Given the description of an element on the screen output the (x, y) to click on. 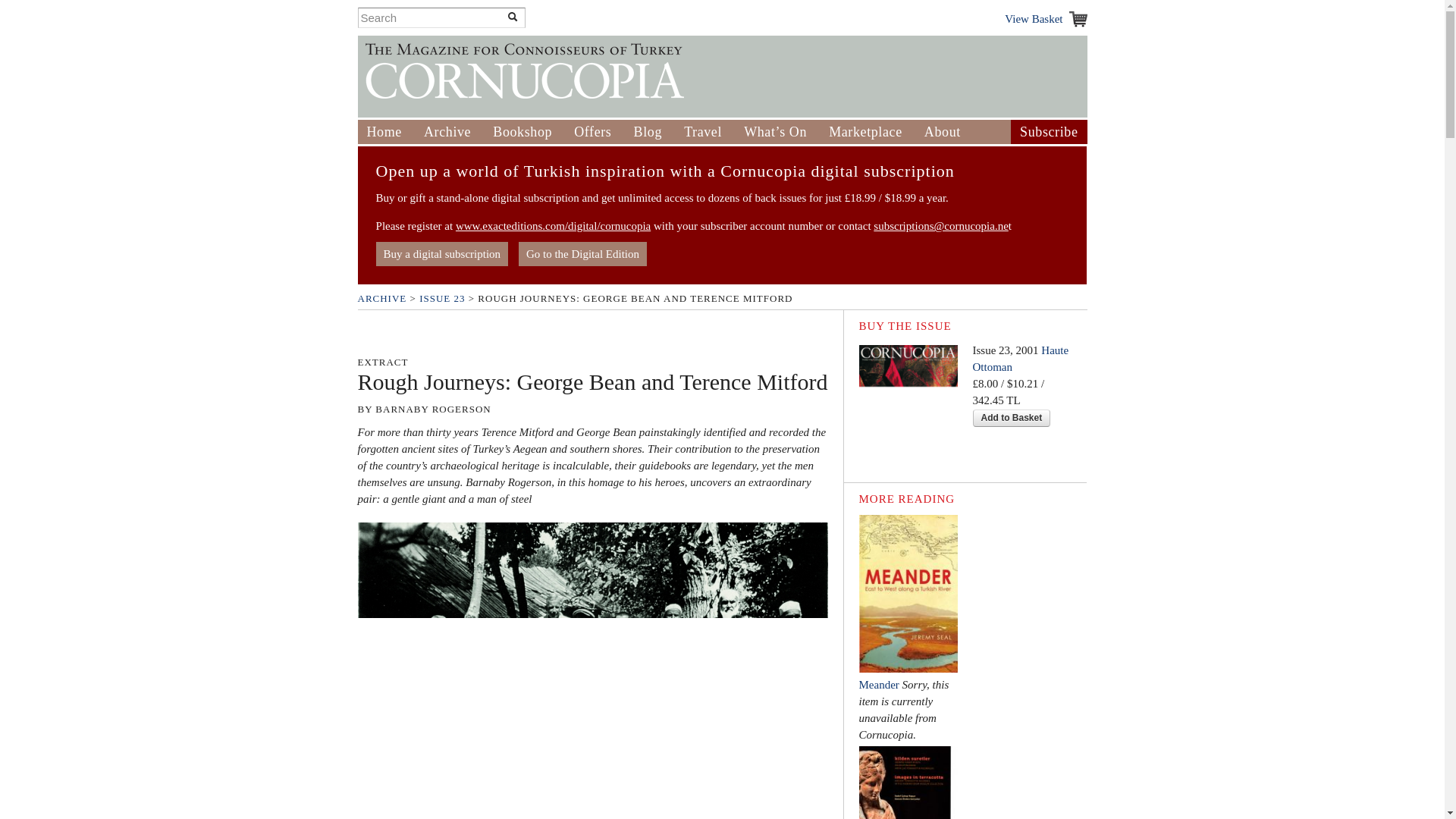
Travel (703, 131)
Buy a digital subscription (441, 253)
ISSUE 23 (441, 297)
Twitter Tweet Button (381, 333)
Home (383, 131)
Offers (592, 131)
Archive (446, 131)
Marketplace (865, 131)
Subscribe (1048, 131)
Go to the Digital Edition (582, 253)
